Given the description of an element on the screen output the (x, y) to click on. 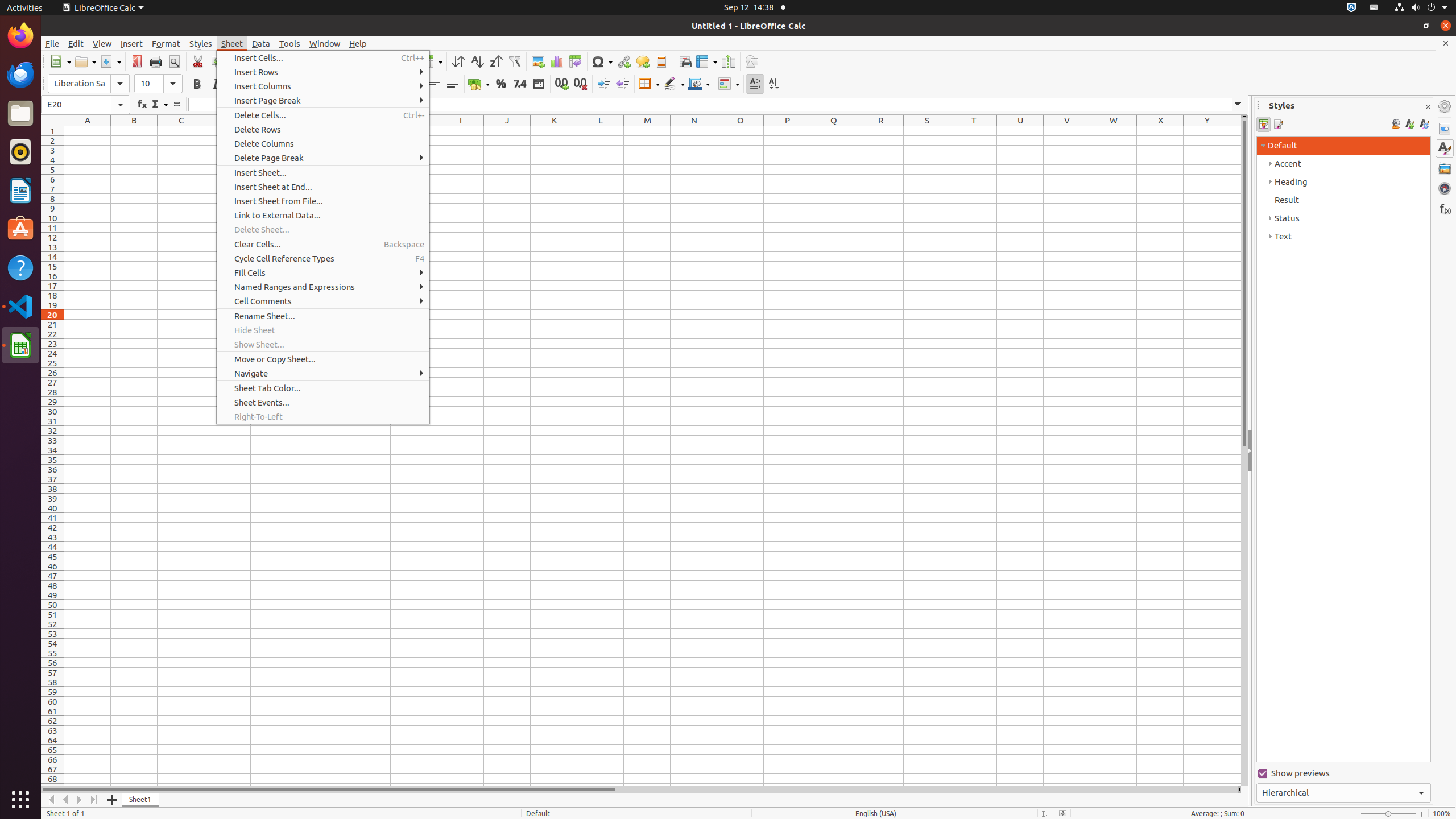
Named Ranges and Expressions Element type: menu (322, 286)
Navigator Element type: radio-button (1444, 188)
Insert Rows Element type: menu (322, 71)
Pivot Table Element type: push-button (574, 61)
Vertical scroll bar Element type: scroll-bar (1244, 451)
